Given the description of an element on the screen output the (x, y) to click on. 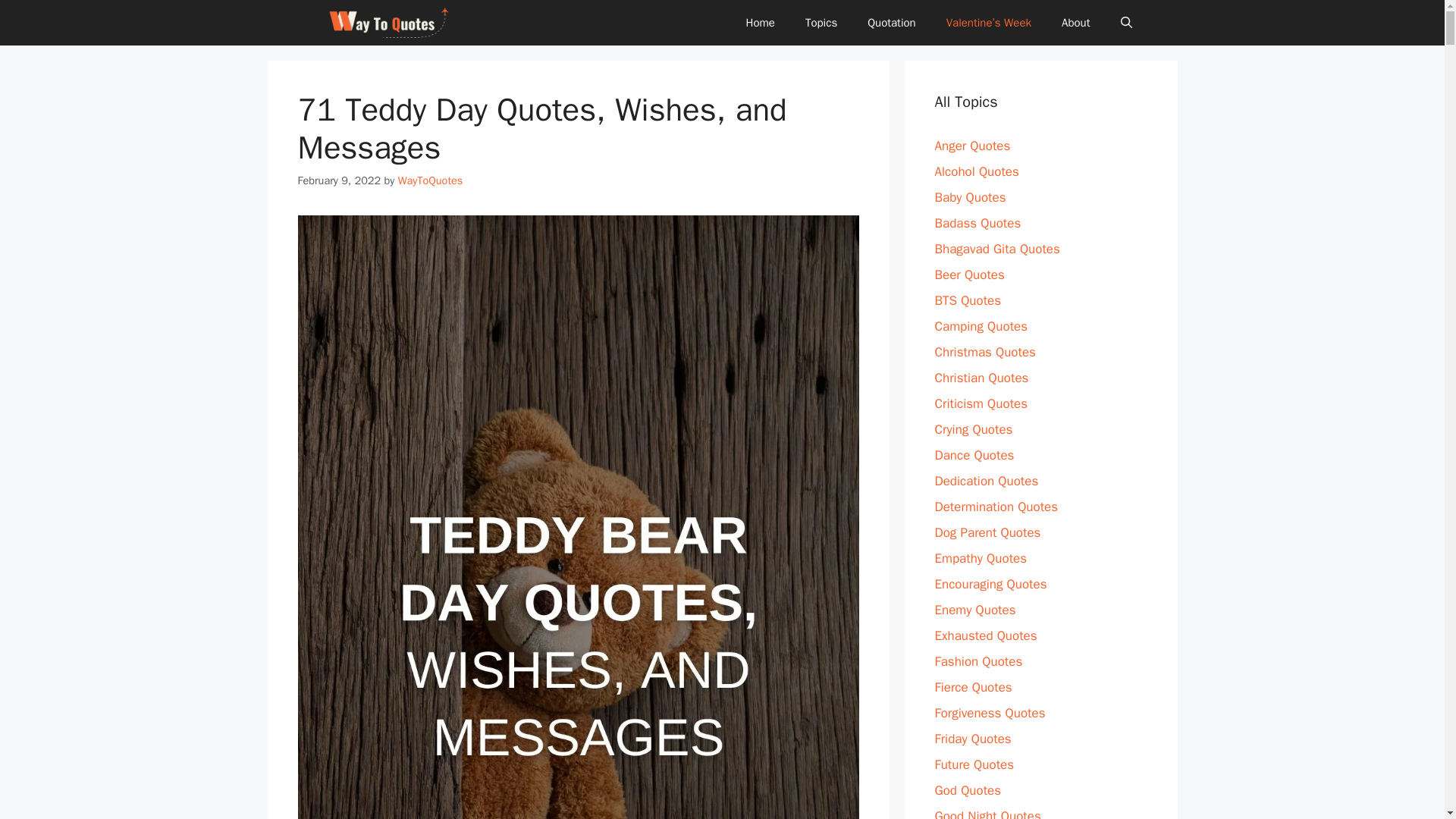
View all posts by WayToQuotes (430, 180)
WayToQuotes (388, 22)
Topics (820, 22)
Home (760, 22)
Quotation (891, 22)
About (1075, 22)
WayToQuotes (430, 180)
